Given the description of an element on the screen output the (x, y) to click on. 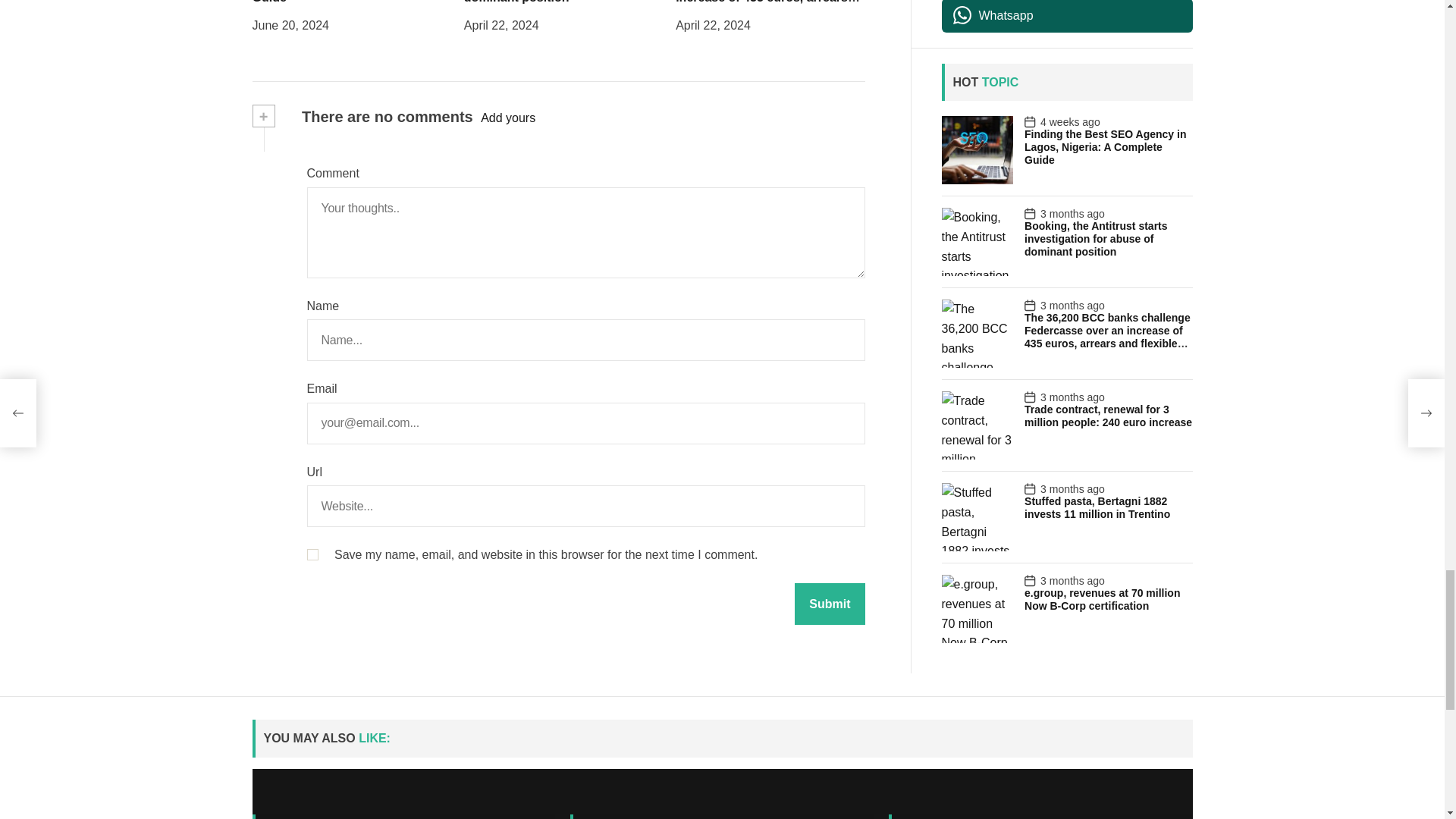
yes (311, 122)
Submit (829, 172)
